Given the description of an element on the screen output the (x, y) to click on. 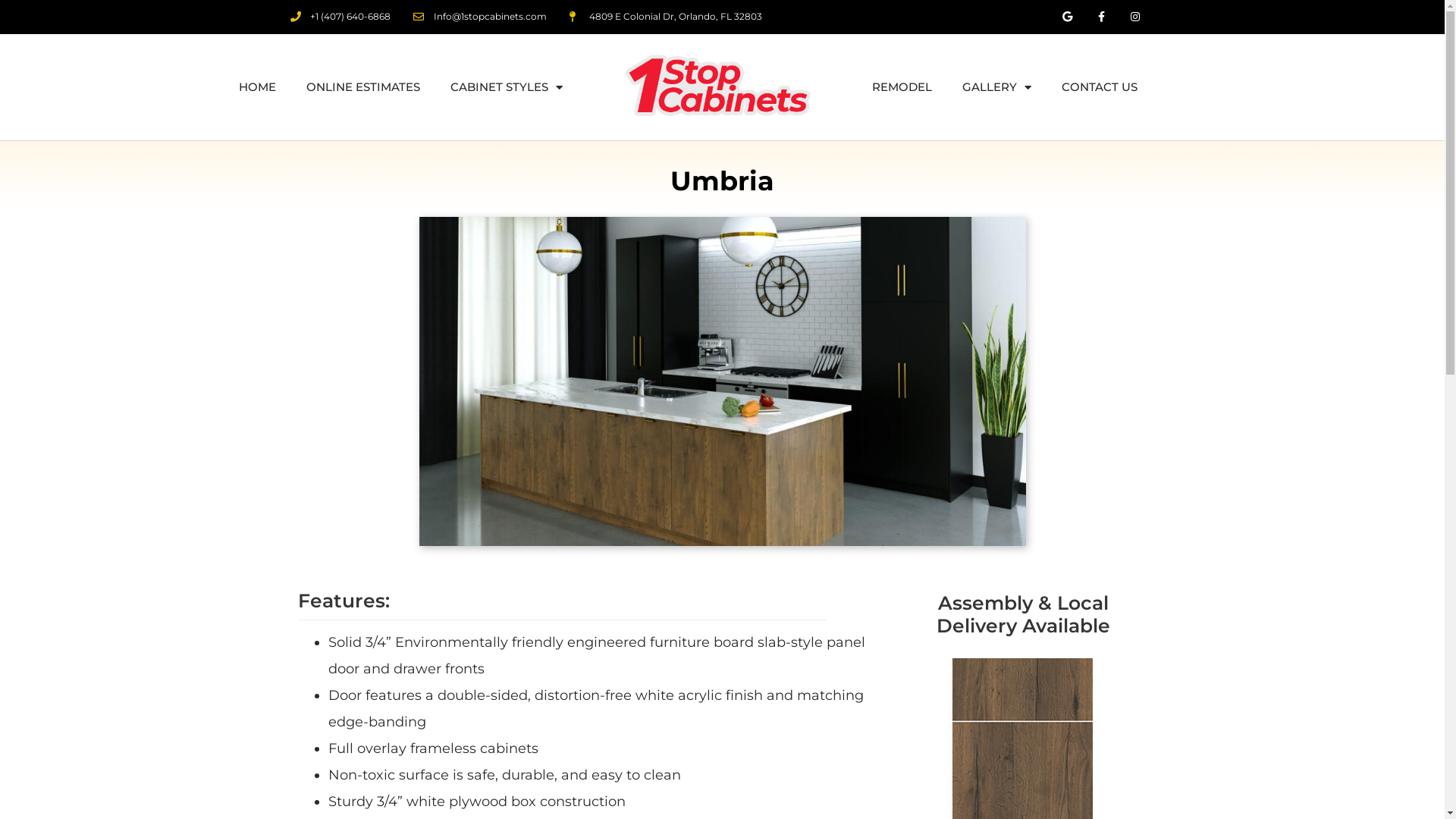
4809 E Colonial Dr, Orlando, FL 32803 Element type: text (665, 16)
+1 (407) 640-6868 Element type: text (339, 16)
Info@1stopcabinets.com Element type: text (479, 16)
HOME Element type: text (257, 87)
ONLINE ESTIMATES Element type: text (363, 87)
REMODEL Element type: text (901, 87)
CONTACT US Element type: text (1099, 87)
CABINET STYLES Element type: text (506, 87)
GALLERY Element type: text (996, 87)
